Given the description of an element on the screen output the (x, y) to click on. 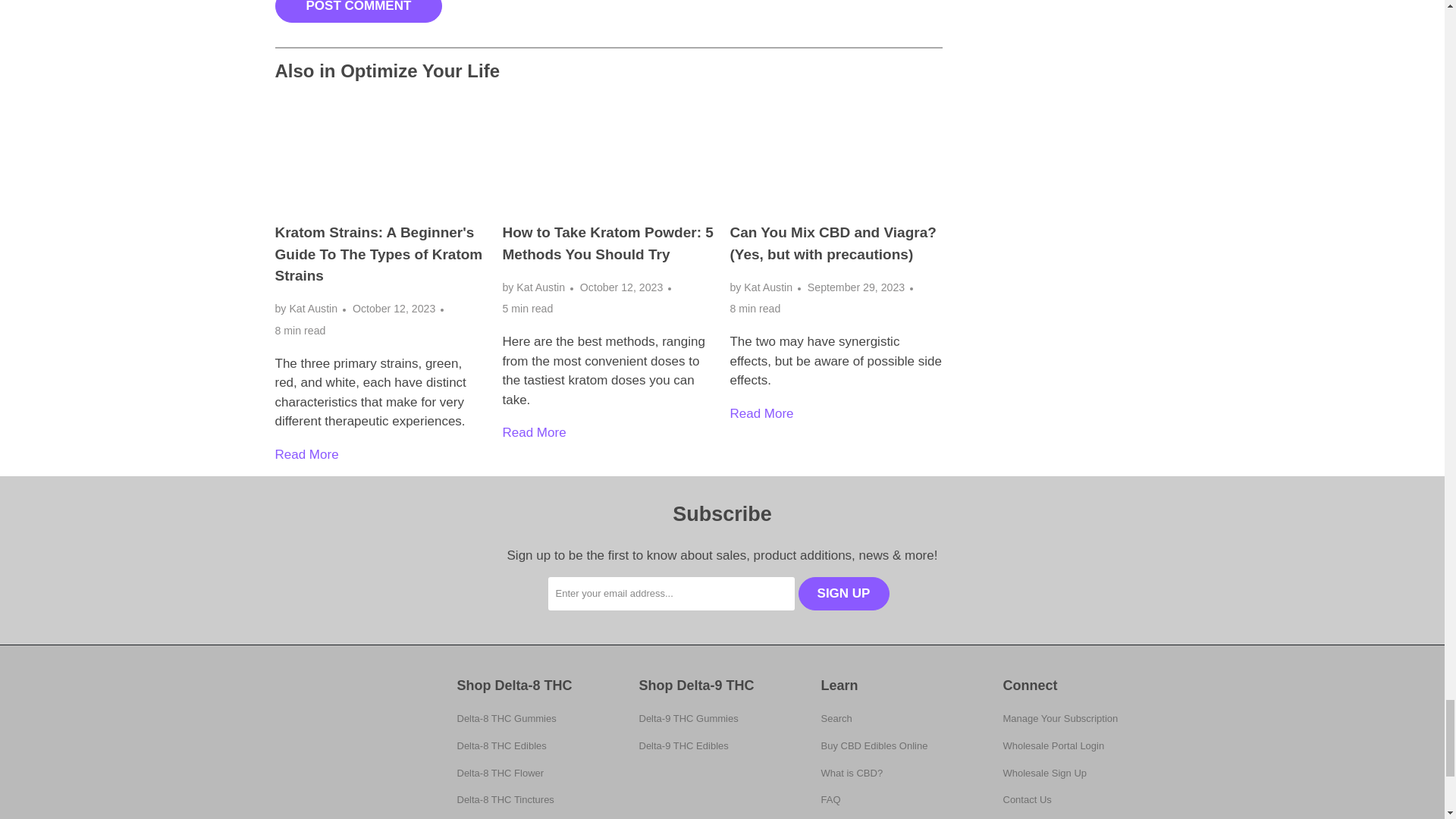
Sign Up (842, 593)
Post comment (358, 11)
